Given the description of an element on the screen output the (x, y) to click on. 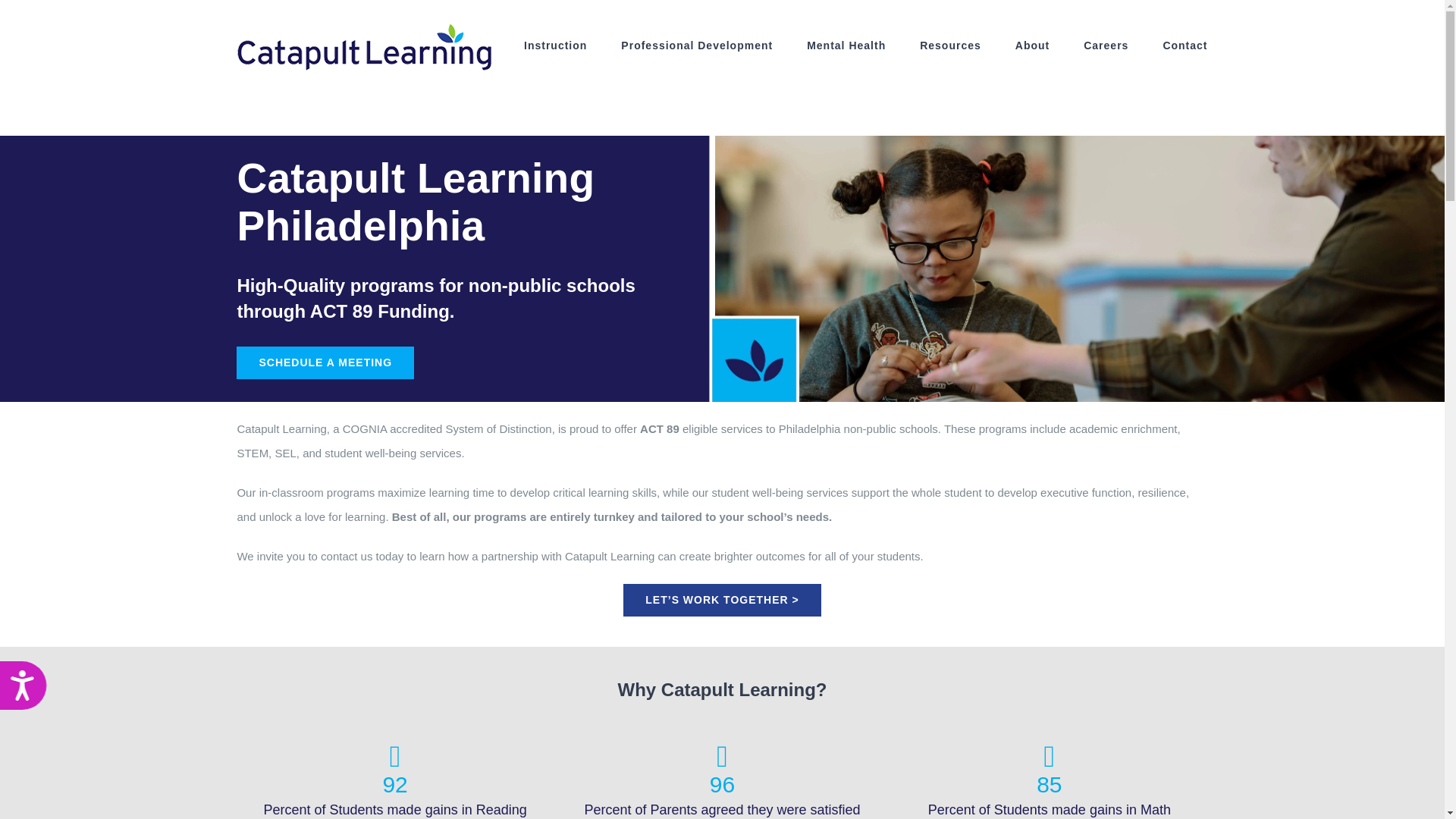
Accessibility (29, 690)
Professional Development (697, 45)
